Given the description of an element on the screen output the (x, y) to click on. 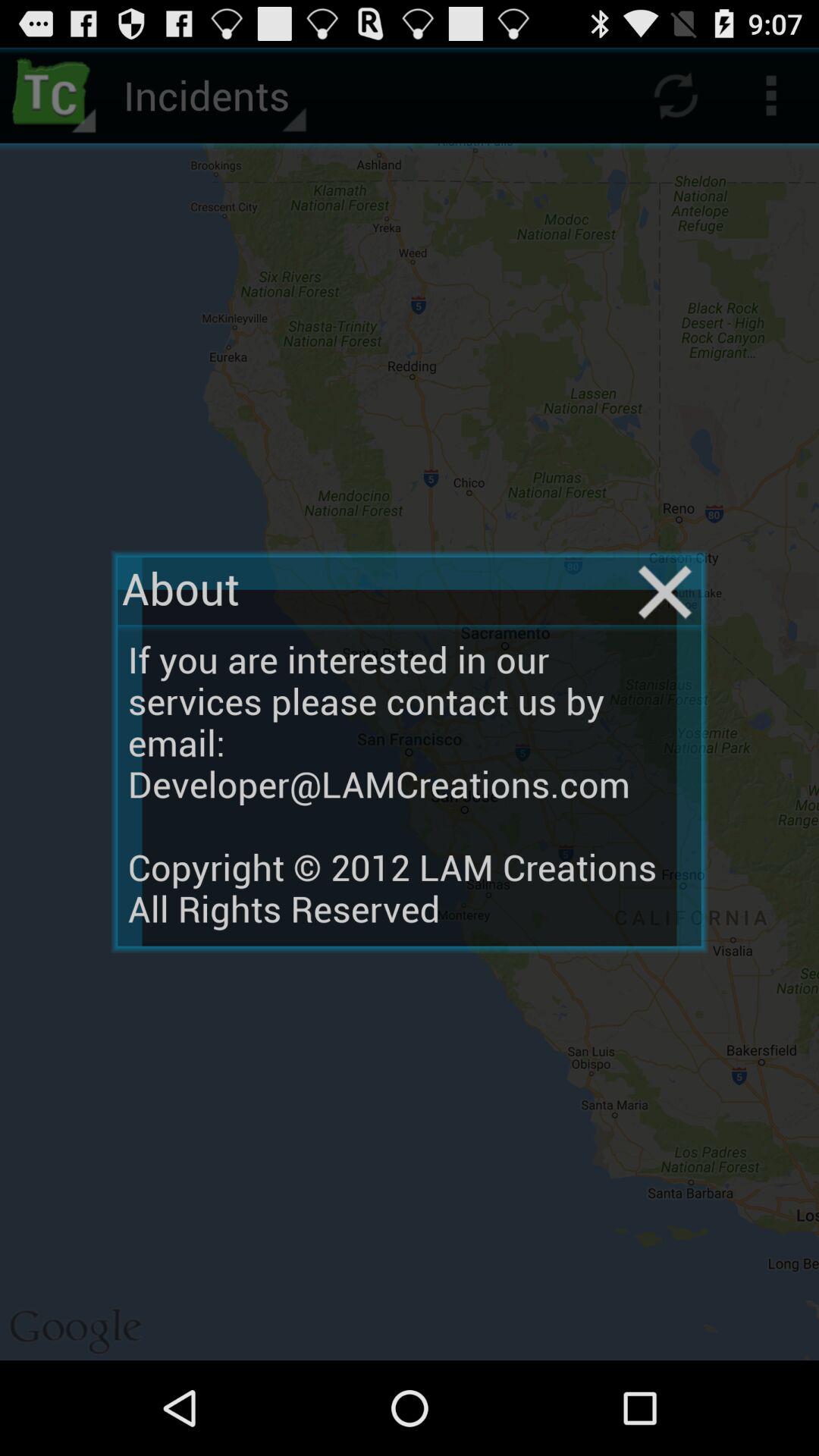
swipe until the incidents item (212, 95)
